Given the description of an element on the screen output the (x, y) to click on. 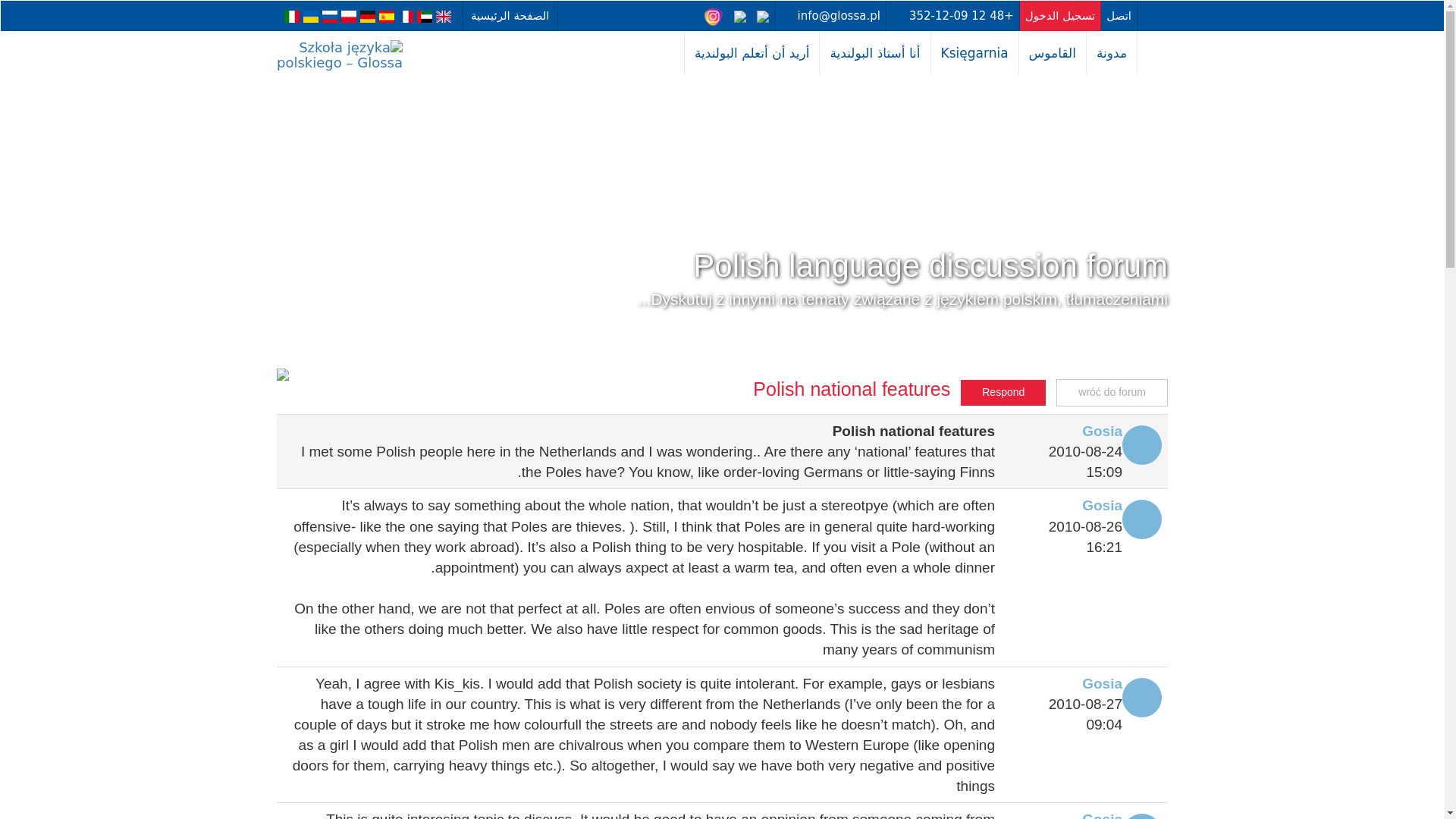
English (443, 16)
polski (348, 16)
Italiano (291, 16)
arabski (424, 16)
deutsch (367, 16)
